Given the description of an element on the screen output the (x, y) to click on. 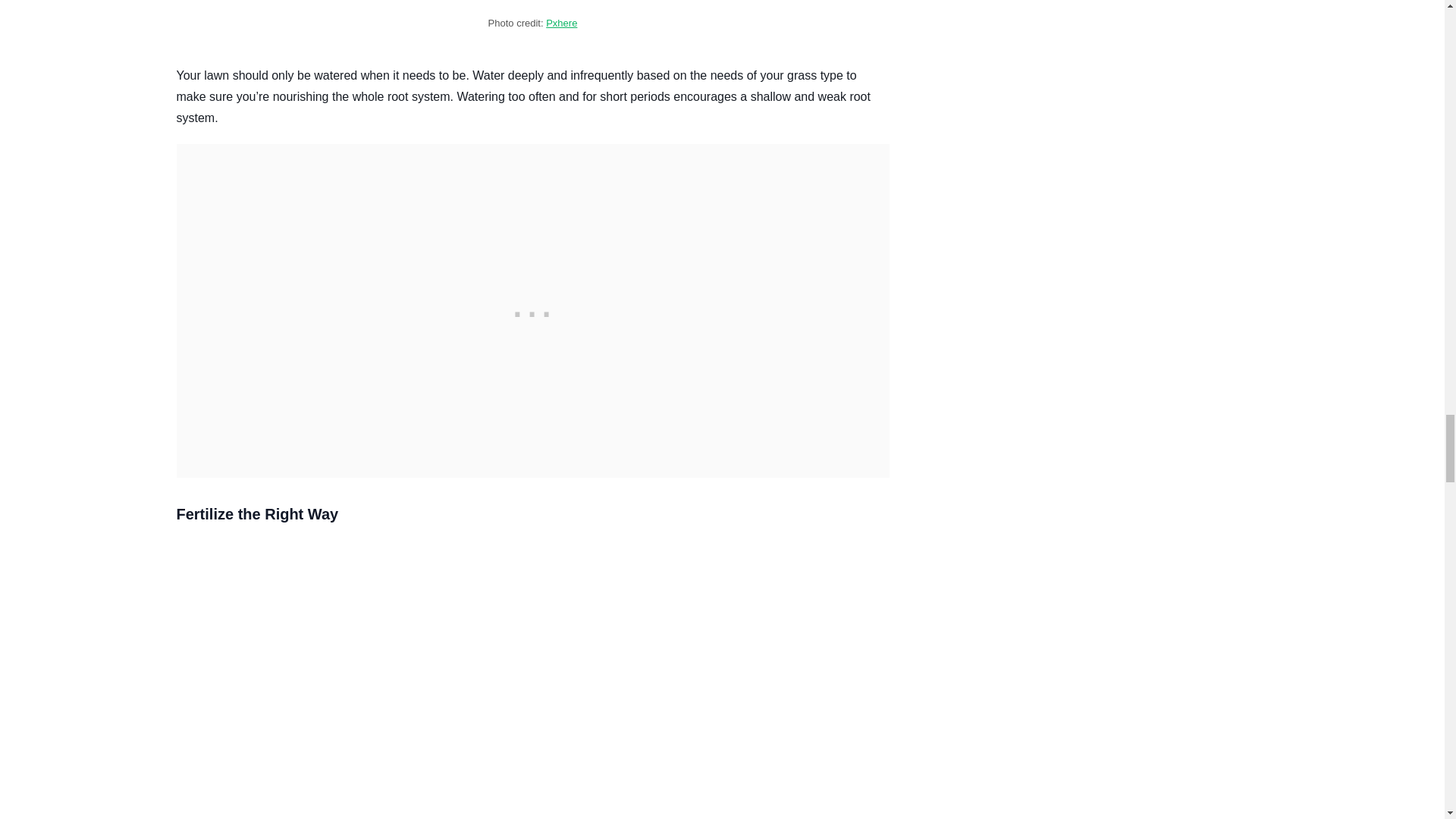
Pxhere (561, 22)
